Given the description of an element on the screen output the (x, y) to click on. 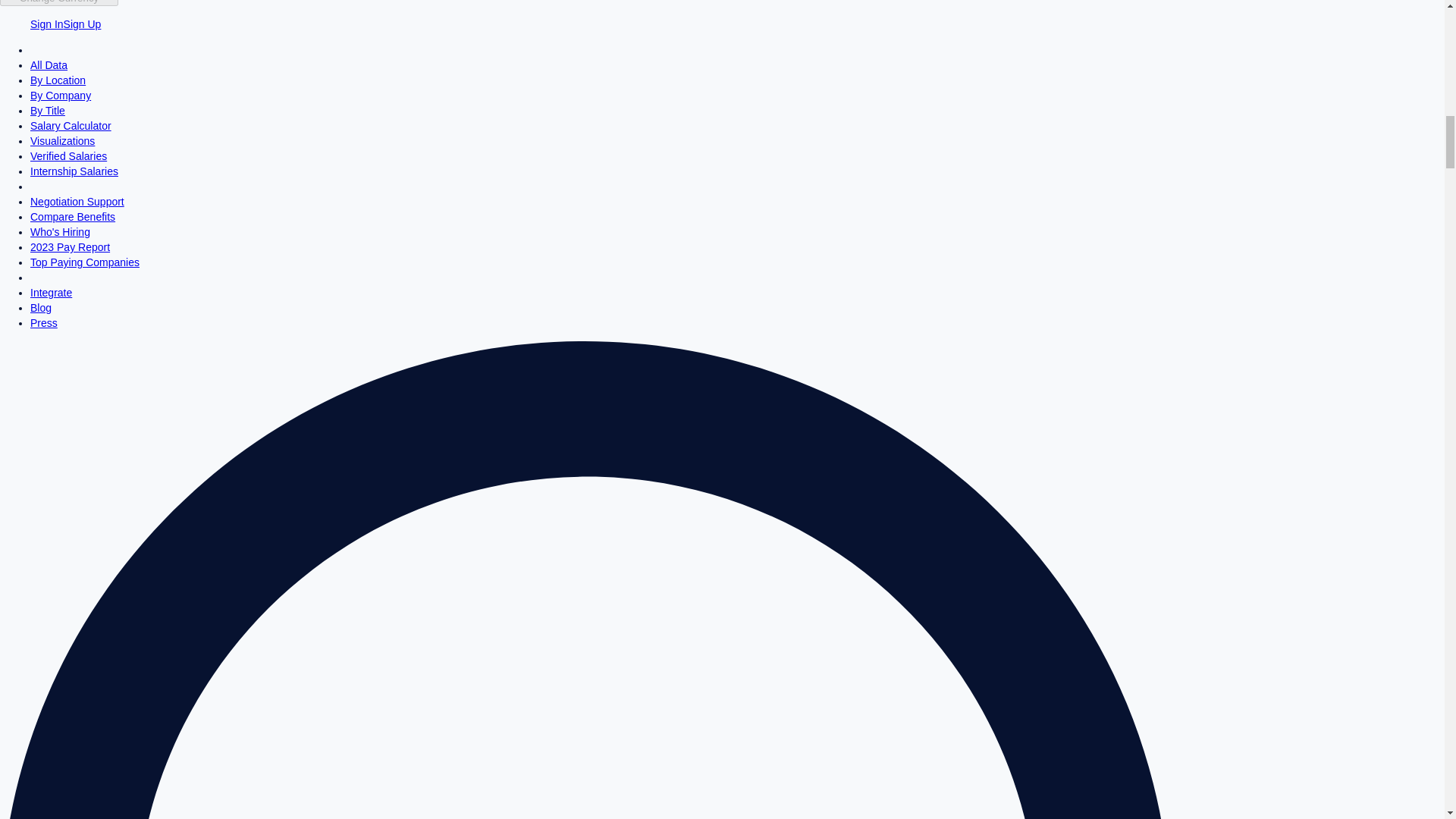
Top Paying Companies (84, 262)
Negotiation Support (76, 201)
2023 Pay Report (70, 246)
Internship Salaries (73, 171)
Integrate (50, 292)
Visualizations (62, 141)
Salary Calculator (71, 125)
Compare Benefits (72, 216)
Who's Hiring (60, 232)
Verified Salaries (68, 155)
Sign In (47, 24)
Press (44, 322)
Sign Up (82, 24)
All Data (48, 64)
By Title (47, 110)
